Given the description of an element on the screen output the (x, y) to click on. 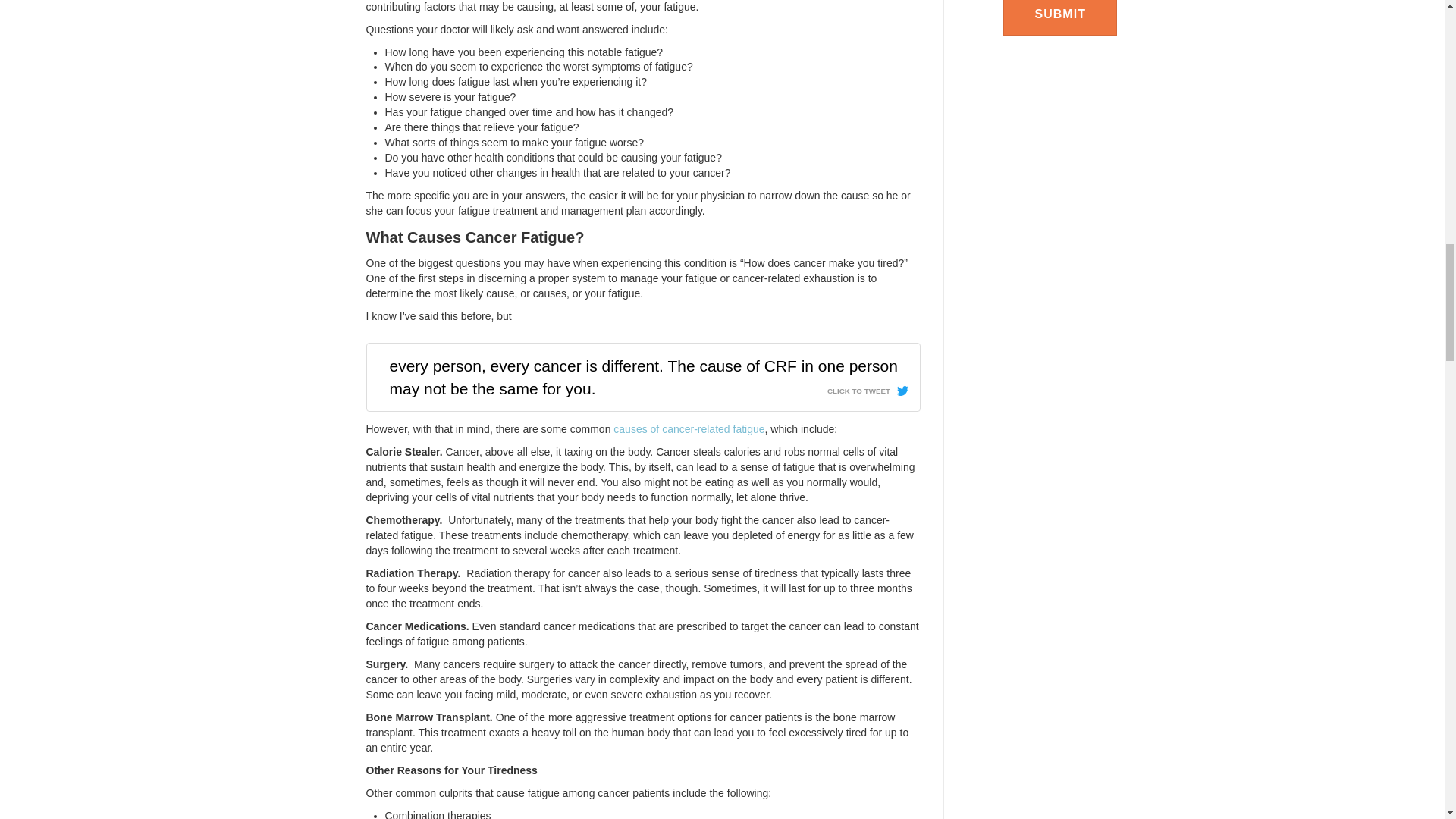
SUBMIT (1059, 18)
causes of cancer-related fatigue (688, 428)
CLICK TO TWEET (867, 386)
